Given the description of an element on the screen output the (x, y) to click on. 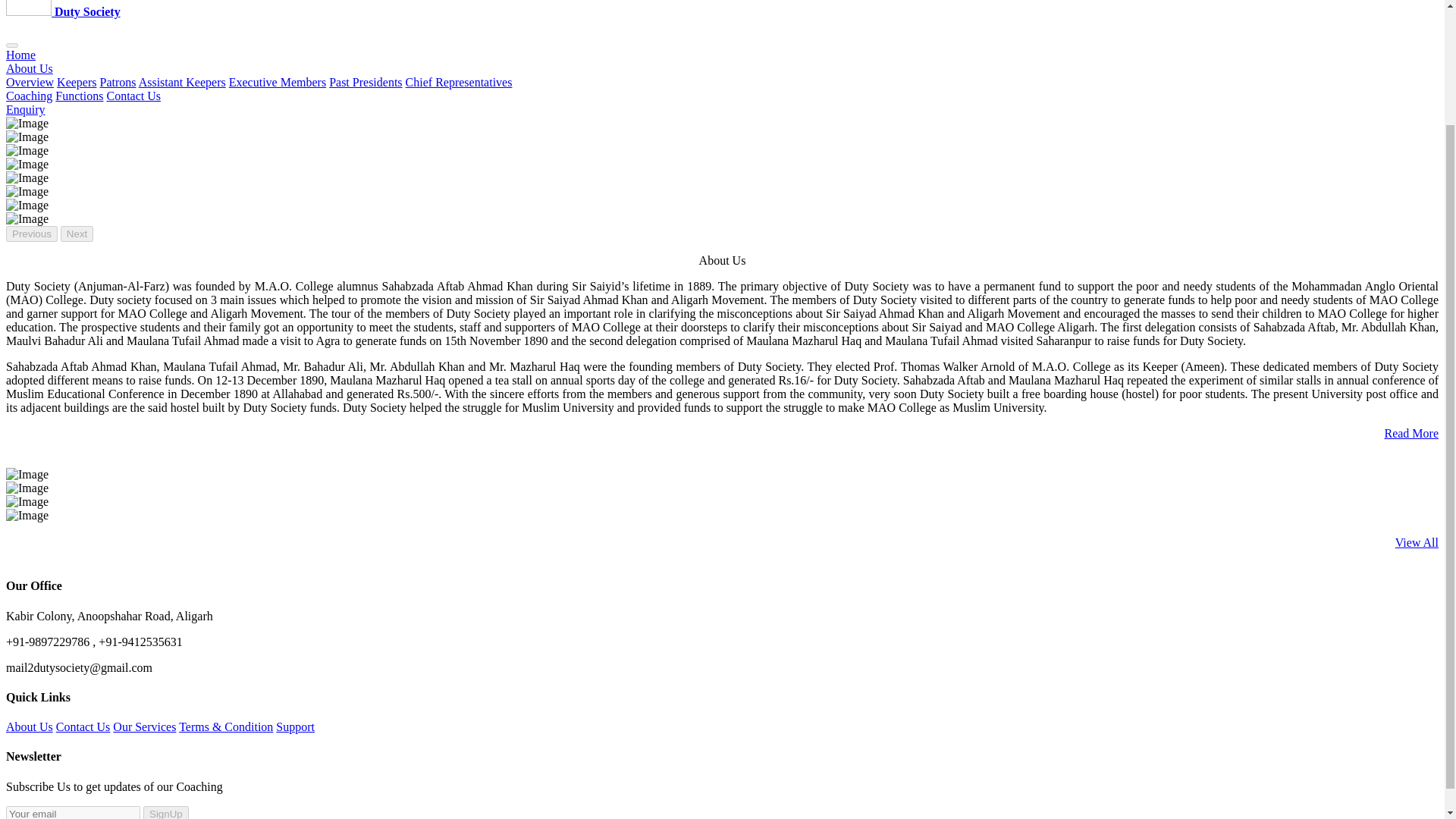
Next (77, 233)
Assistant Keepers (181, 82)
Contact Us (133, 95)
Coaching (28, 95)
Chief Representatives (459, 82)
Patrons (118, 82)
Keepers (76, 82)
Functions (79, 95)
Enquiry (25, 109)
Support (295, 726)
Overview (29, 82)
Executive Members (277, 82)
Contact Us (83, 726)
About Us (28, 68)
Previous (31, 233)
